Given the description of an element on the screen output the (x, y) to click on. 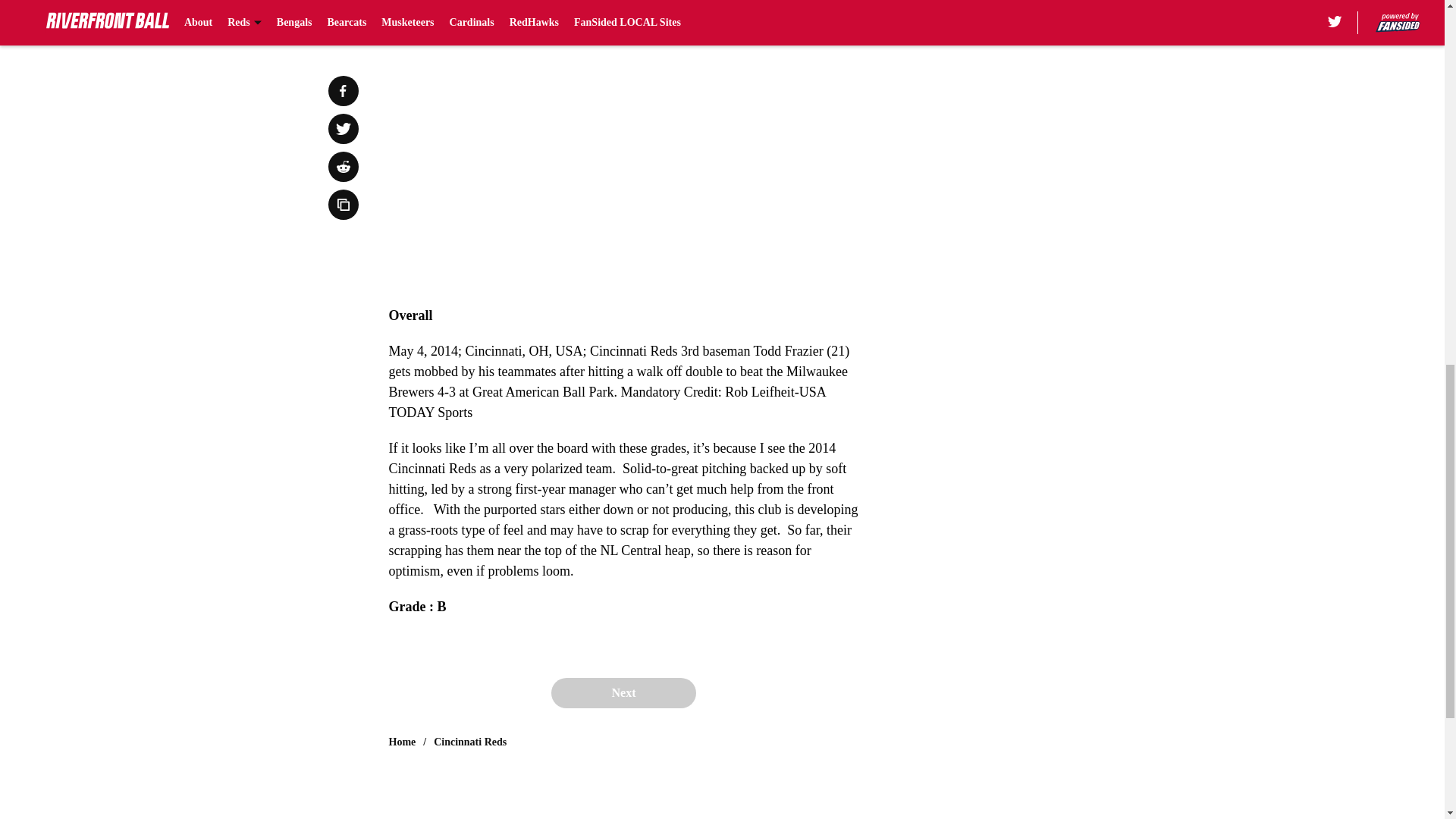
Next (813, 5)
Prev (433, 5)
Cincinnati Reds (469, 742)
Home (401, 742)
Next (622, 693)
